Given the description of an element on the screen output the (x, y) to click on. 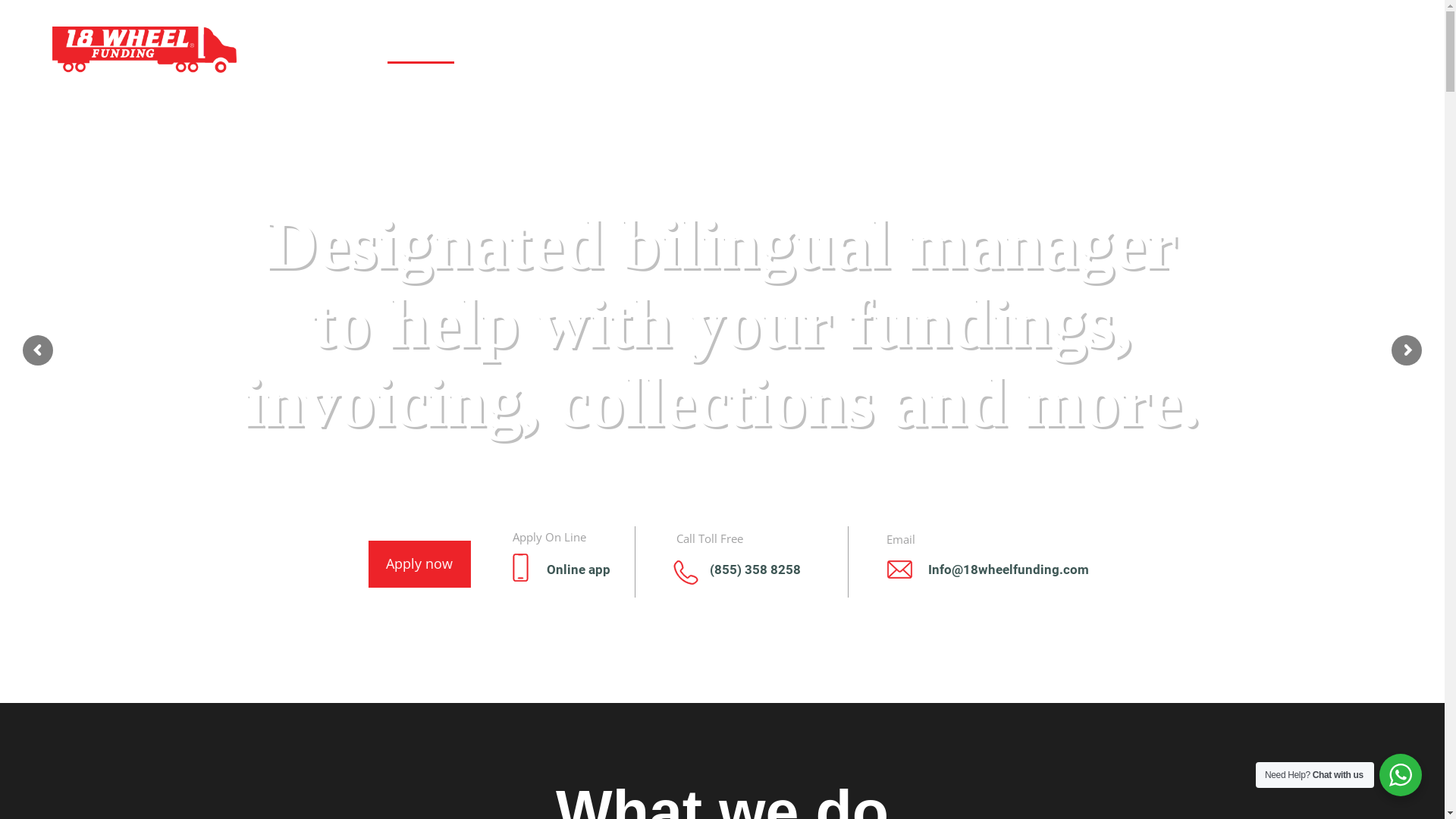
HOME Element type: text (420, 45)
CONTACT US Element type: text (974, 45)
WHAT WE DO Element type: text (509, 45)
Apply now Element type: text (457, 560)
ABOUT US Element type: text (611, 45)
SUPPORT Element type: text (702, 45)
RESOURCES Element type: text (799, 45)
